Given the description of an element on the screen output the (x, y) to click on. 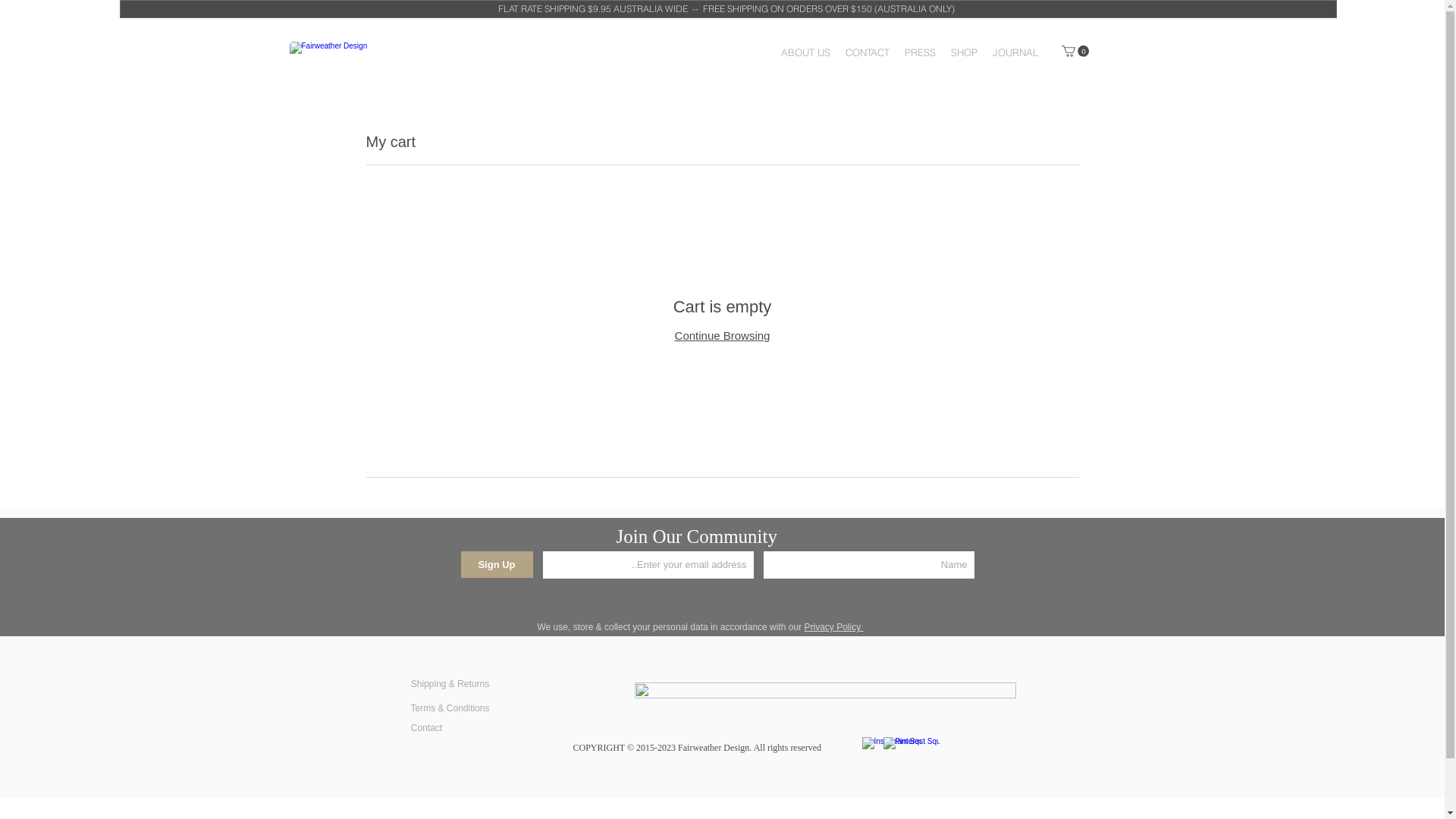
Sign Up Element type: text (497, 564)
Fairweather Design Element type: hover (454, 49)
Continue Browsing Element type: text (722, 335)
0 Element type: text (1074, 50)
PRESS Element type: text (919, 52)
Contact Element type: text (426, 728)
Terms & Conditions Element type: text (449, 708)
Shipping & Returns Element type: text (449, 683)
JOURNAL Element type: text (1014, 52)
SHOP Element type: text (964, 52)
Privacy Policy  Element type: text (832, 626)
CONTACT Element type: text (866, 52)
ABOUT US Element type: text (805, 52)
